Given the description of an element on the screen output the (x, y) to click on. 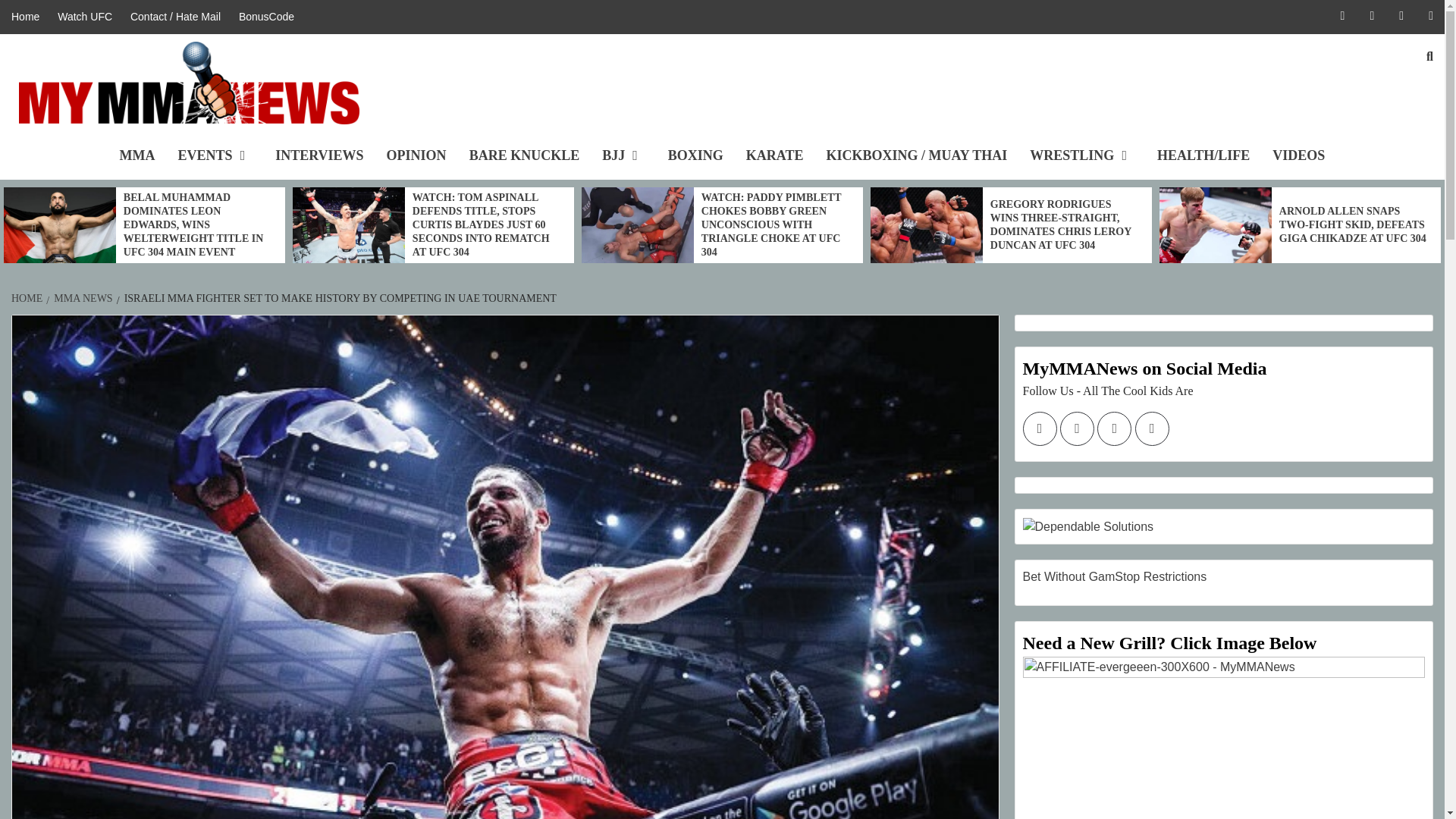
MMA News (28, 17)
BJJ (623, 155)
MYMMANEWS (102, 135)
VIDEOS (1298, 155)
Boxing News (695, 155)
Bare Knuckle News (524, 155)
BARE KNUCKLE (524, 155)
WRESTLING (1081, 155)
Interviews (318, 155)
MMA (137, 155)
Opinion (416, 155)
KARATE (775, 155)
MMA News (137, 155)
Contact Us (175, 17)
BonusCode (266, 17)
